Given the description of an element on the screen output the (x, y) to click on. 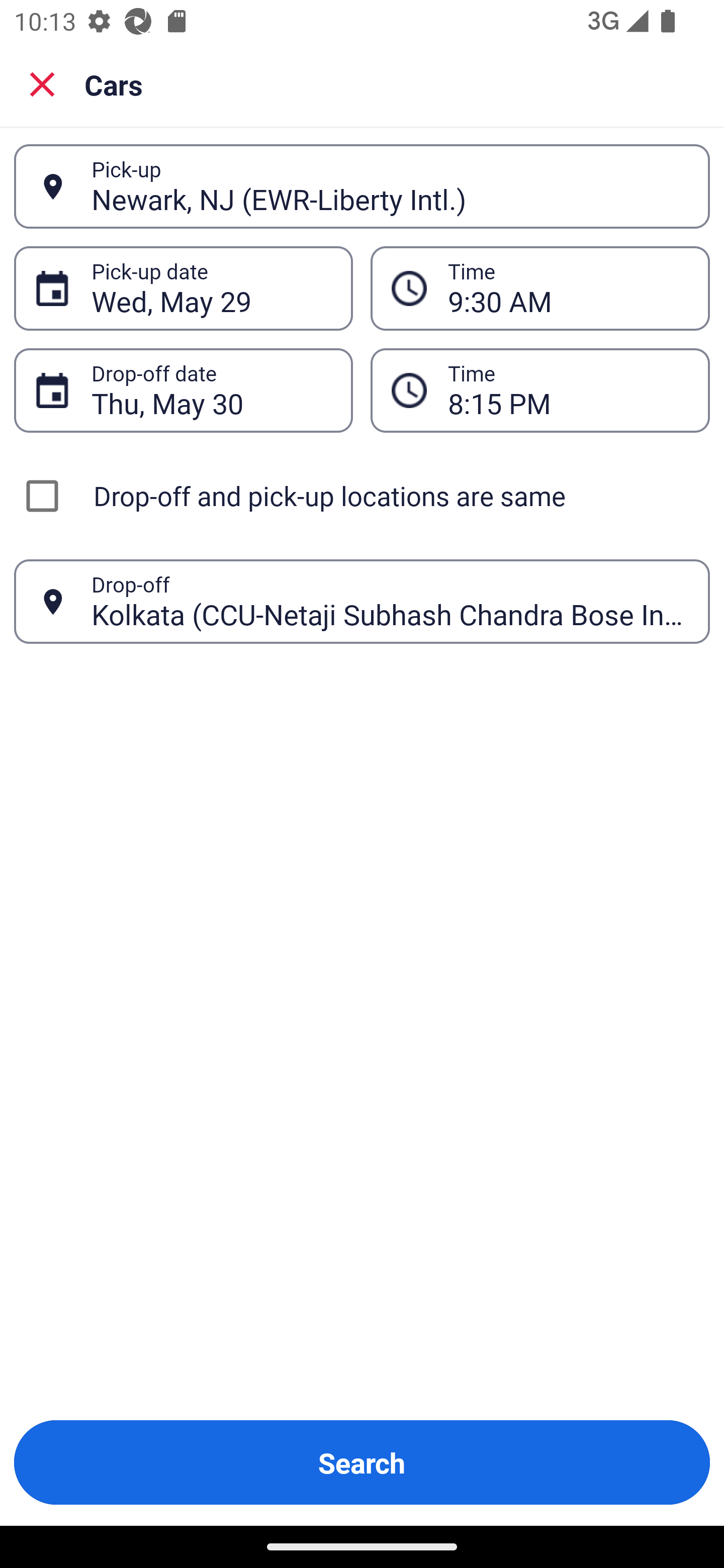
Close search screen (41, 83)
Newark, NJ (EWR-Liberty Intl.) Pick-up (361, 186)
Newark, NJ (EWR-Liberty Intl.) (389, 186)
Wed, May 29 Pick-up date (183, 288)
9:30 AM (540, 288)
Wed, May 29 (211, 288)
9:30 AM (568, 288)
Thu, May 30 Drop-off date (183, 390)
8:15 PM (540, 390)
Thu, May 30 (211, 390)
8:15 PM (568, 390)
Drop-off and pick-up locations are same (361, 495)
Kolkata (CCU-Netaji Subhash Chandra Bose Intl.) (389, 601)
Search Button Search (361, 1462)
